Given the description of an element on the screen output the (x, y) to click on. 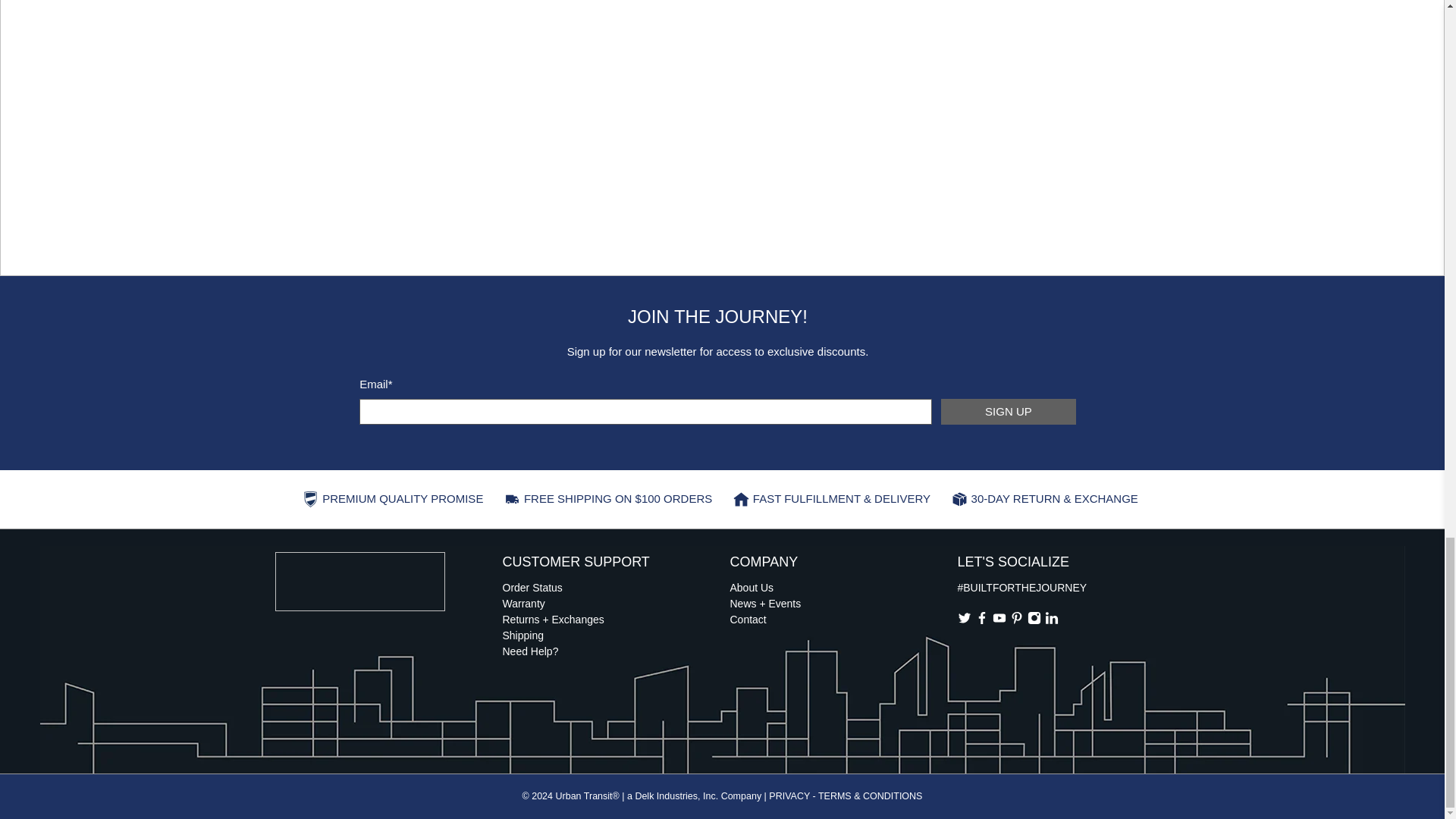
TERMS AND CONDITIONS (870, 796)
PRIVACY POLICY (788, 796)
